Given the description of an element on the screen output the (x, y) to click on. 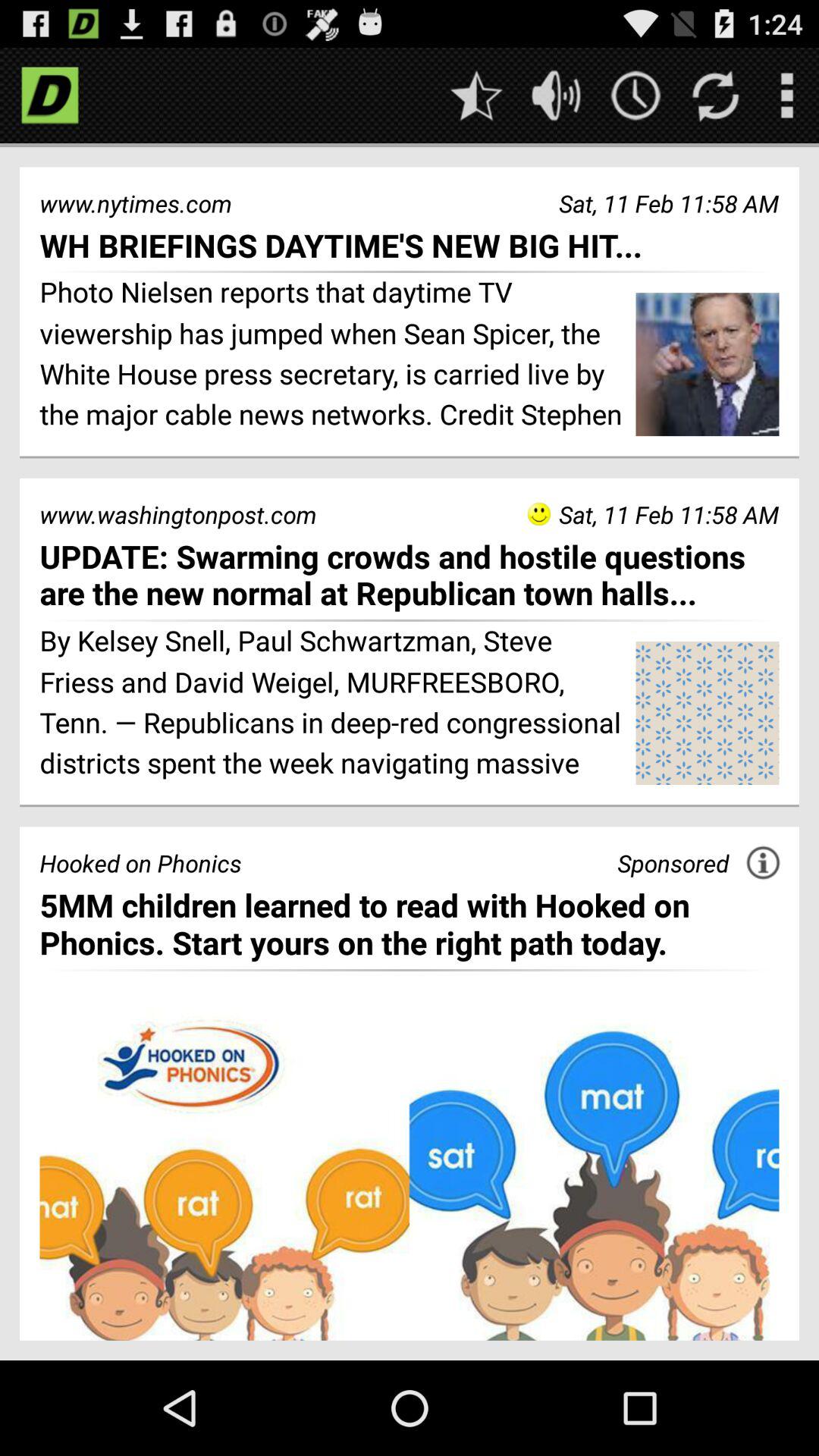
scroll to the by kelsey snell app (332, 704)
